Given the description of an element on the screen output the (x, y) to click on. 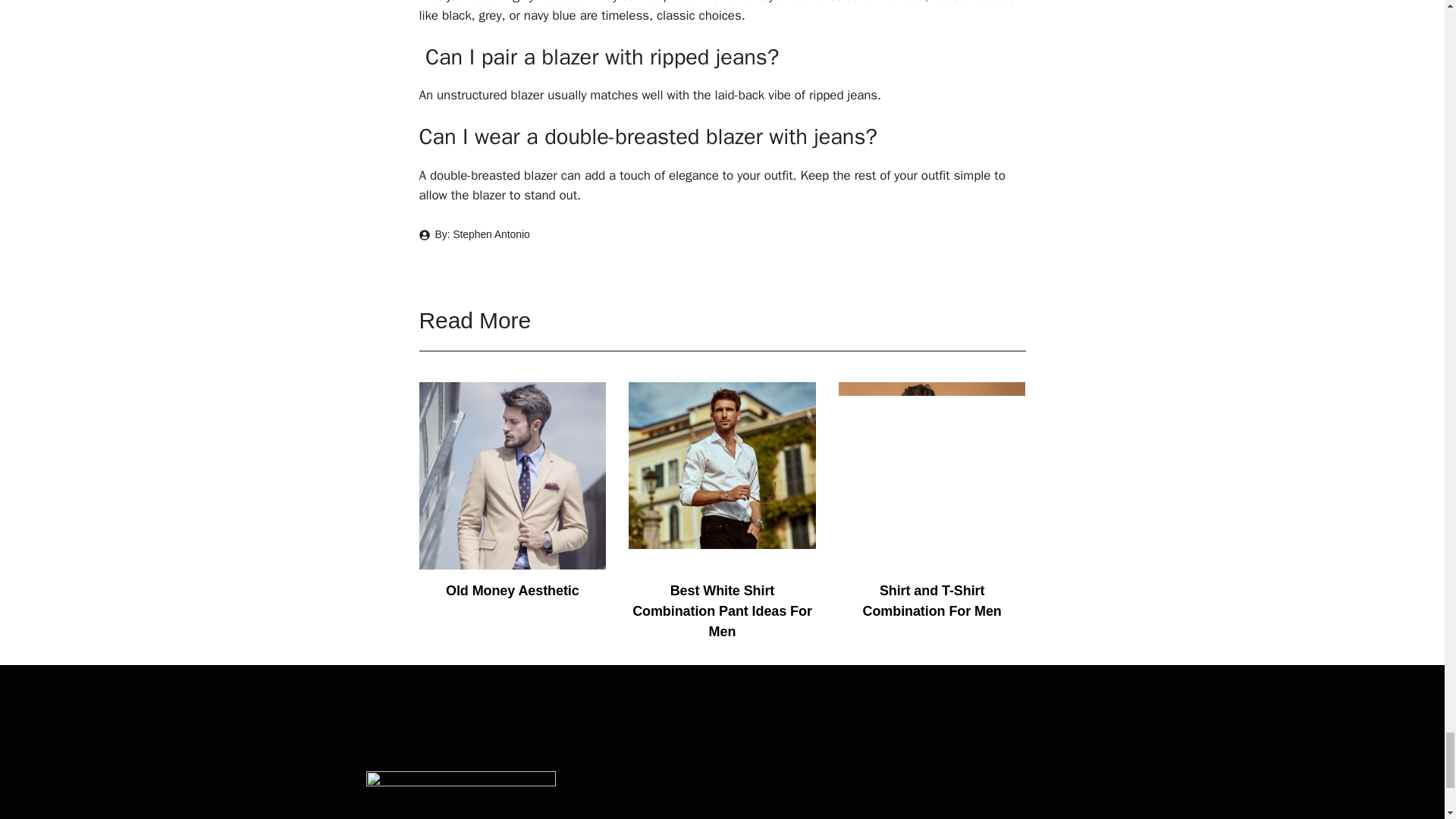
Best White Shirt Combination Pant Ideas For Men (721, 560)
Old Money Aesthetic (512, 560)
Old Money Aesthetic (512, 590)
Shirt and T-Shirt Combination For Men (932, 560)
Best White Shirt Combination Pant Ideas For Men (721, 611)
Shirt and T-Shirt Combination For Men (932, 601)
